Given the description of an element on the screen output the (x, y) to click on. 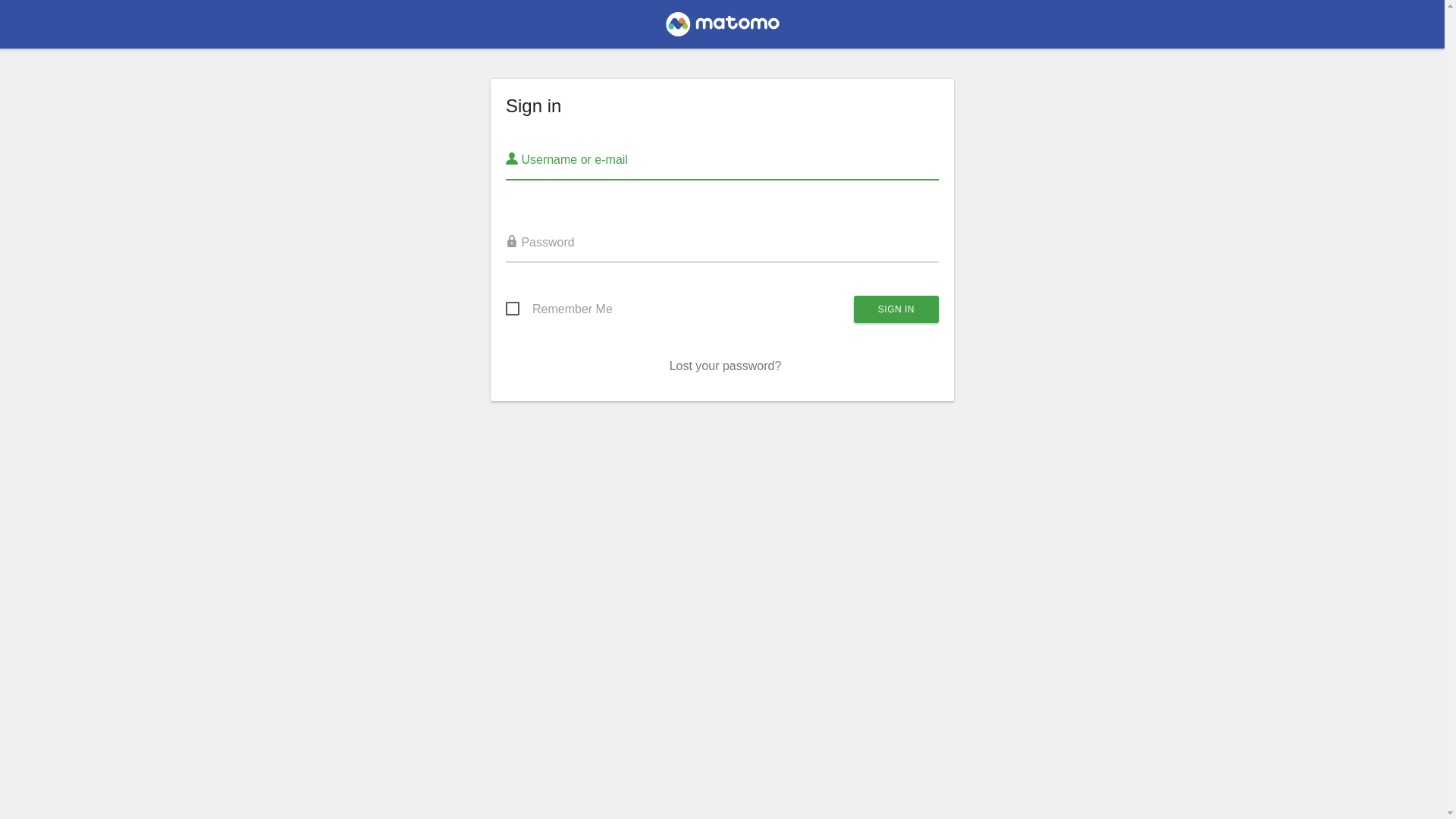
Sign in Element type: text (895, 309)
Lost your password? Element type: text (725, 365)
Matomo # free/libre analytics platform Element type: hover (722, 27)
